Given the description of an element on the screen output the (x, y) to click on. 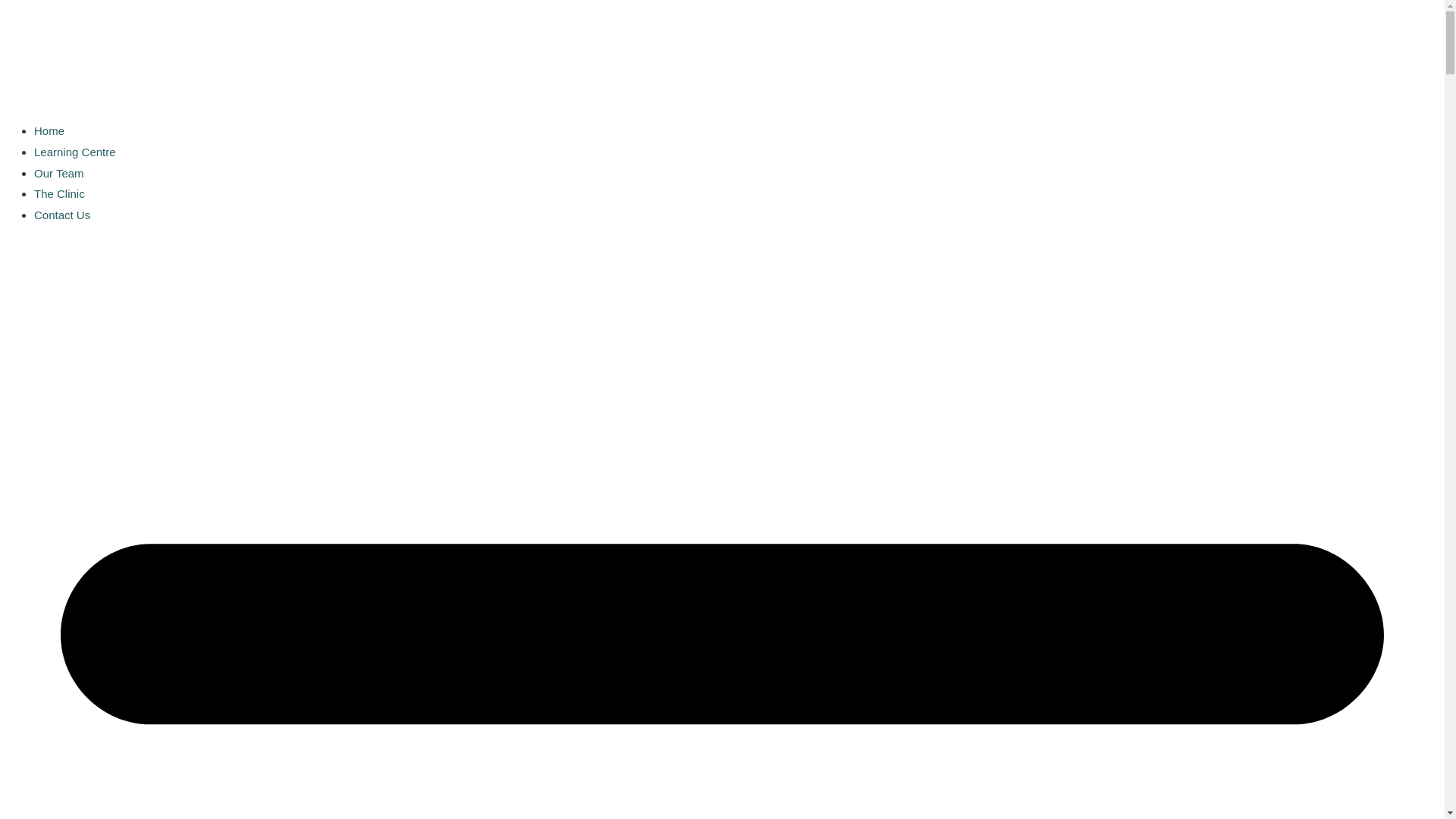
Home Element type: text (49, 130)
Contact Us Element type: text (62, 214)
The Clinic Element type: text (59, 193)
Our Team Element type: text (59, 172)
Learning Centre Element type: text (75, 151)
